Given the description of an element on the screen output the (x, y) to click on. 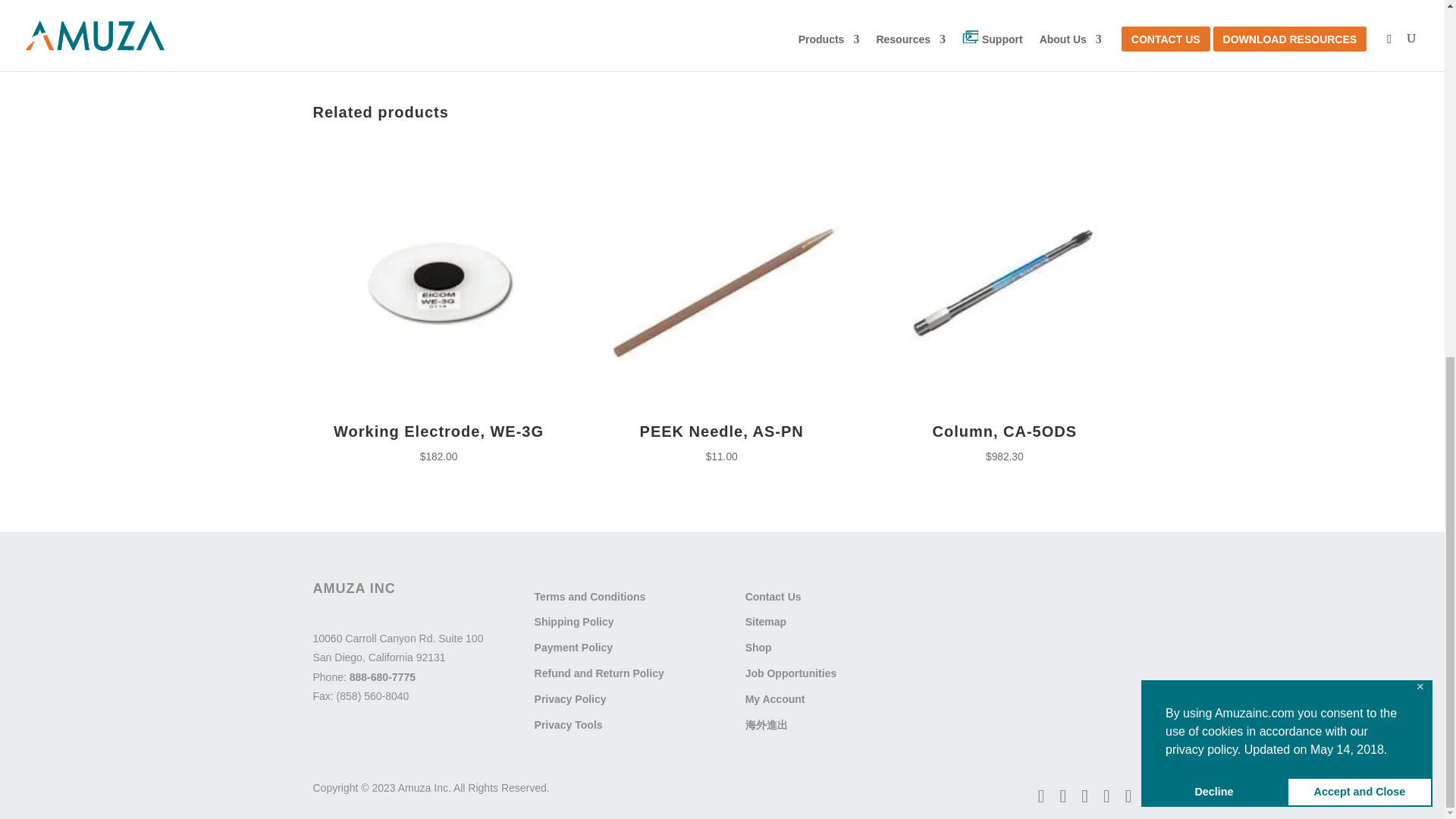
Accept and Close (1359, 162)
Decline (1214, 162)
